Given the description of an element on the screen output the (x, y) to click on. 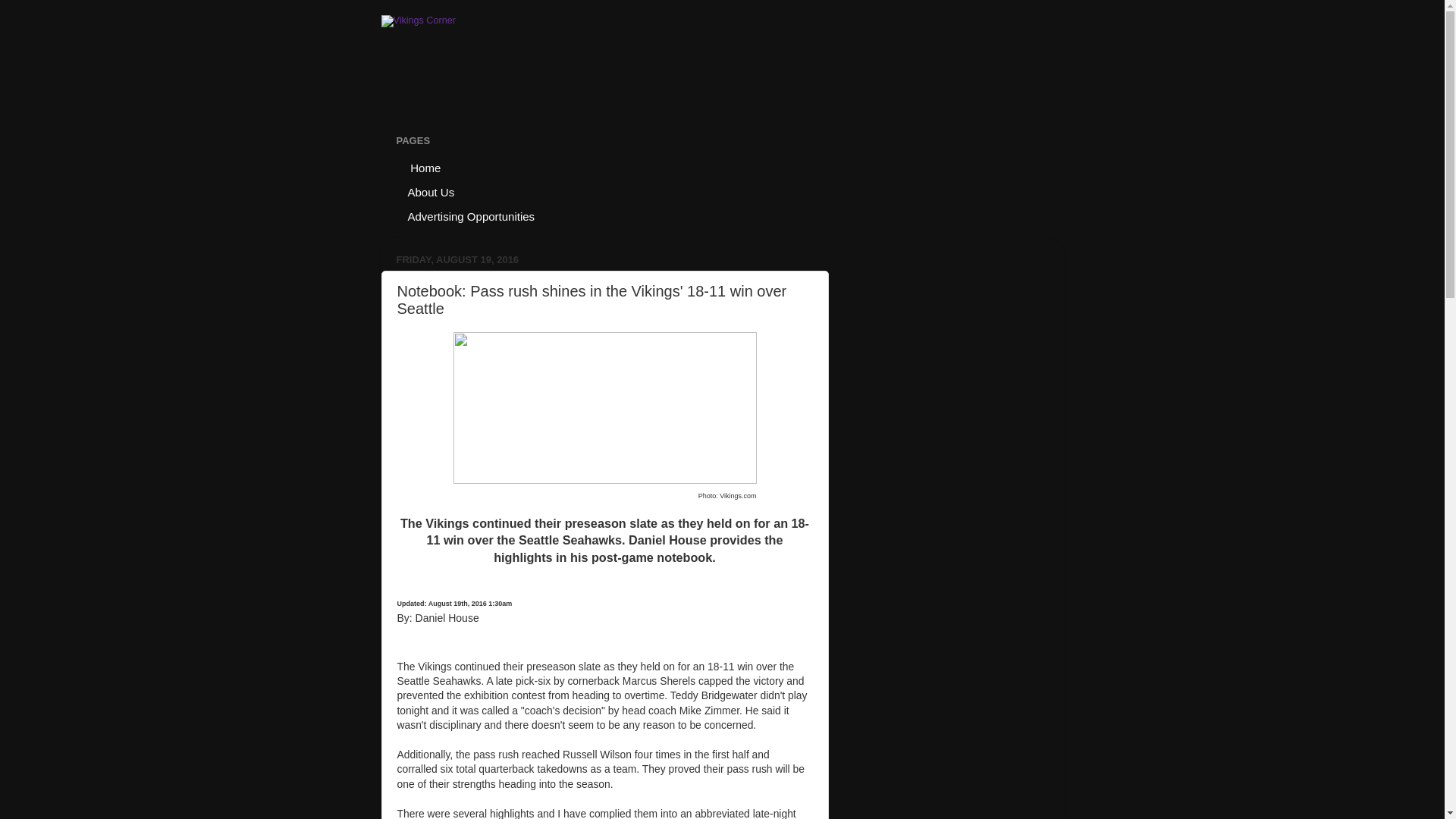
Advertising Opportunities (471, 215)
About Us (430, 191)
Home (424, 167)
Twitter Follow Button (457, 632)
